Given the description of an element on the screen output the (x, y) to click on. 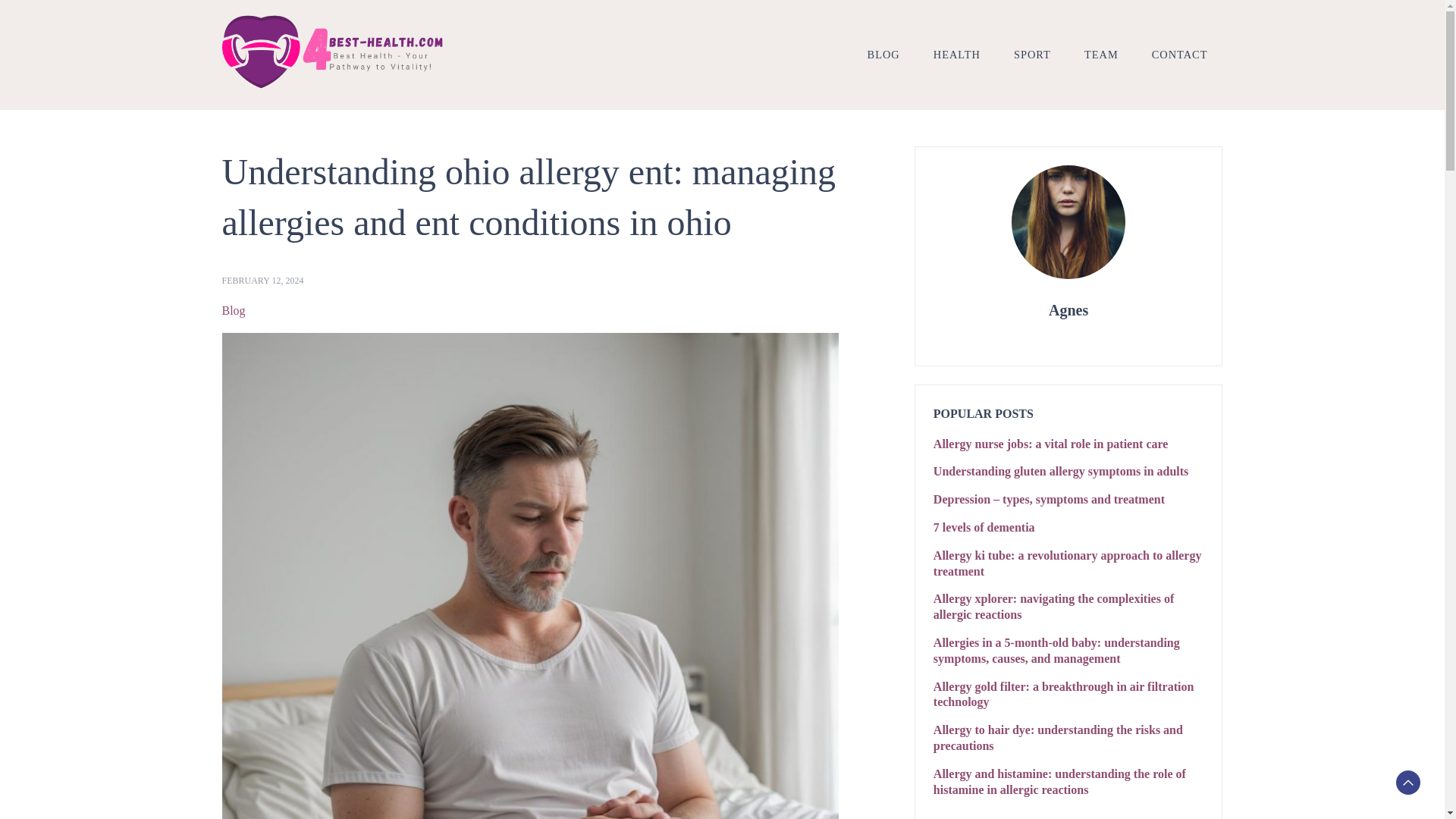
FEBRUARY 12, 2024 (261, 280)
HEALTH (956, 54)
TEAM (1101, 54)
Blog (232, 310)
CONTACT (1180, 54)
SPORT (1031, 54)
BLOG (883, 54)
